Given the description of an element on the screen output the (x, y) to click on. 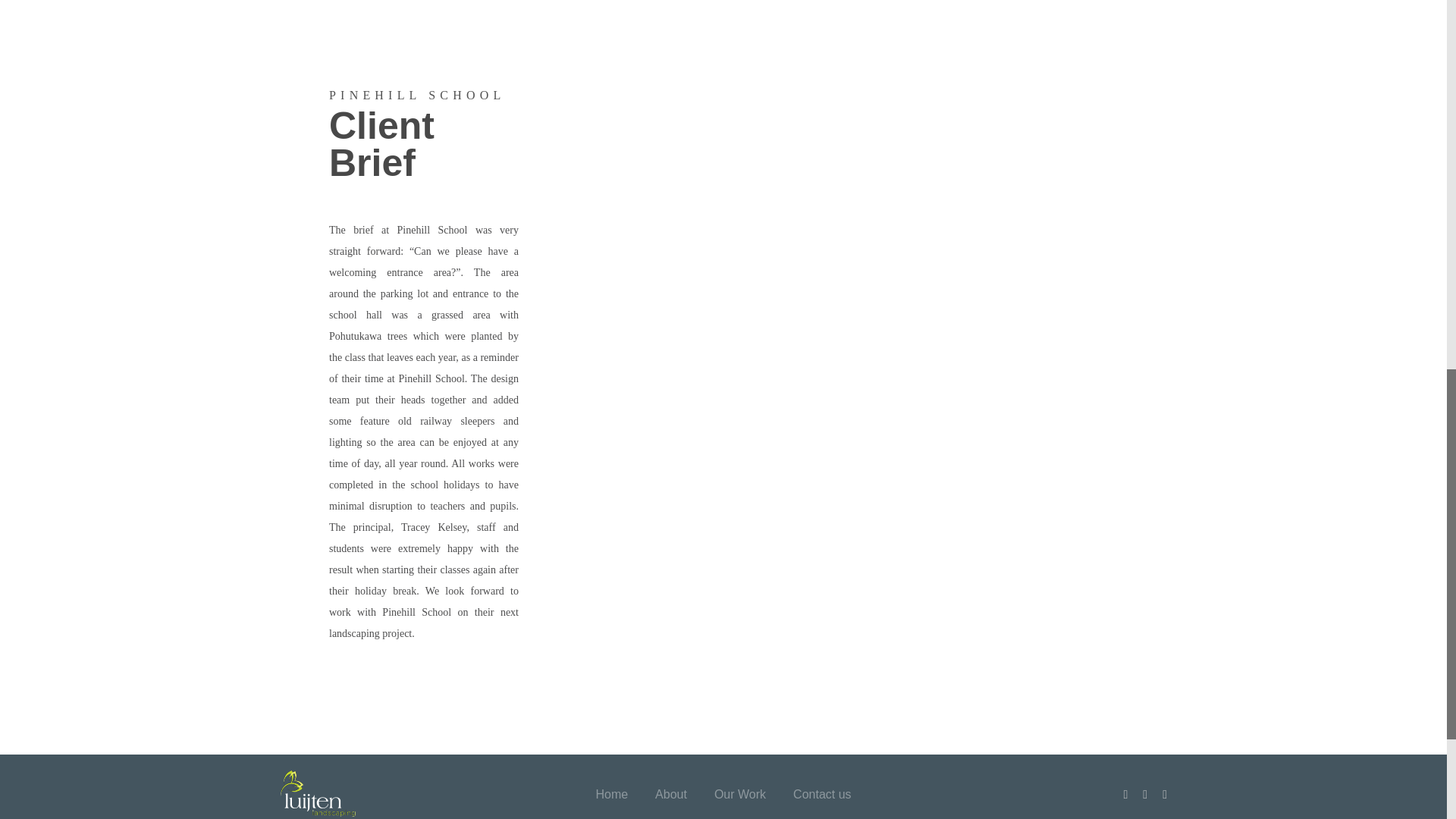
Contact us (821, 793)
Home (611, 793)
Our Work (739, 793)
About (671, 793)
